Given the description of an element on the screen output the (x, y) to click on. 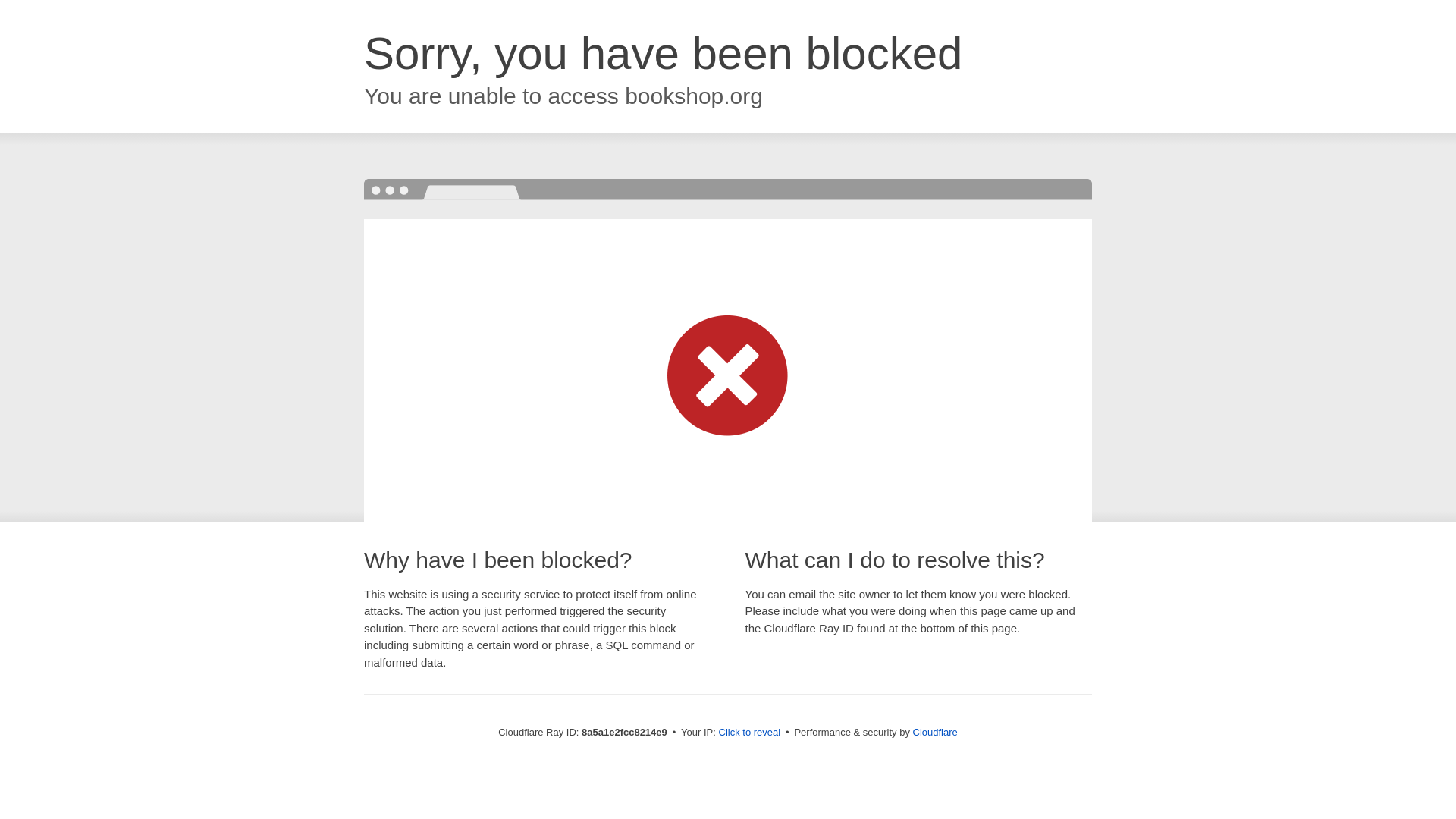
Cloudflare (935, 731)
Click to reveal (749, 732)
